Given the description of an element on the screen output the (x, y) to click on. 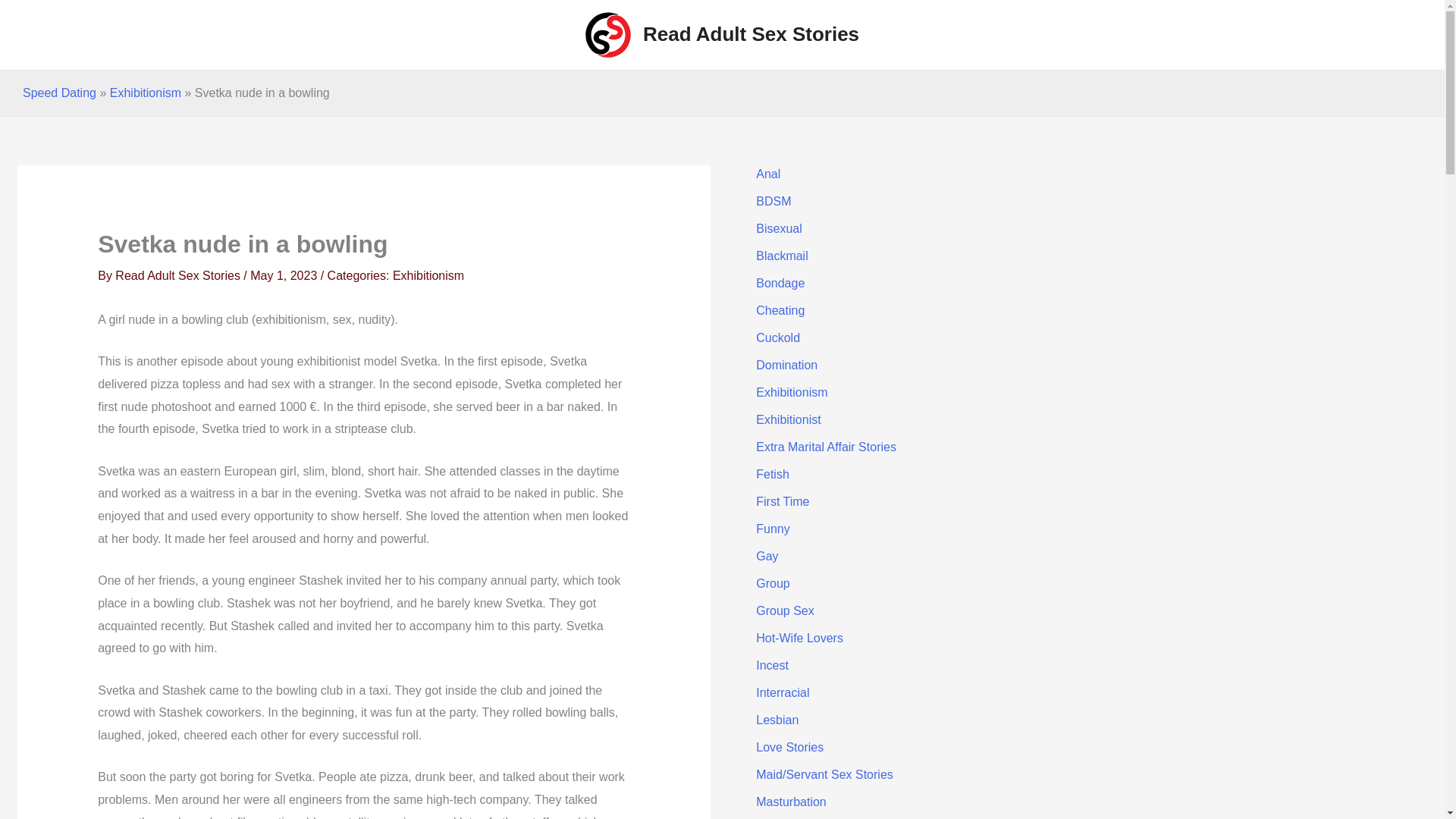
Exhibitionism (791, 391)
Group Sex (784, 610)
Love Stories (789, 747)
Speed Dating (59, 92)
Lesbian (776, 719)
Extra Marital Affair Stories (825, 446)
Funny (772, 528)
Exhibitionist (788, 419)
Fetish (772, 473)
Read Adult Sex Stories (751, 33)
Masturbation (791, 801)
Gay (766, 555)
Cheating (780, 309)
Group (772, 583)
BDSM (772, 201)
